Given the description of an element on the screen output the (x, y) to click on. 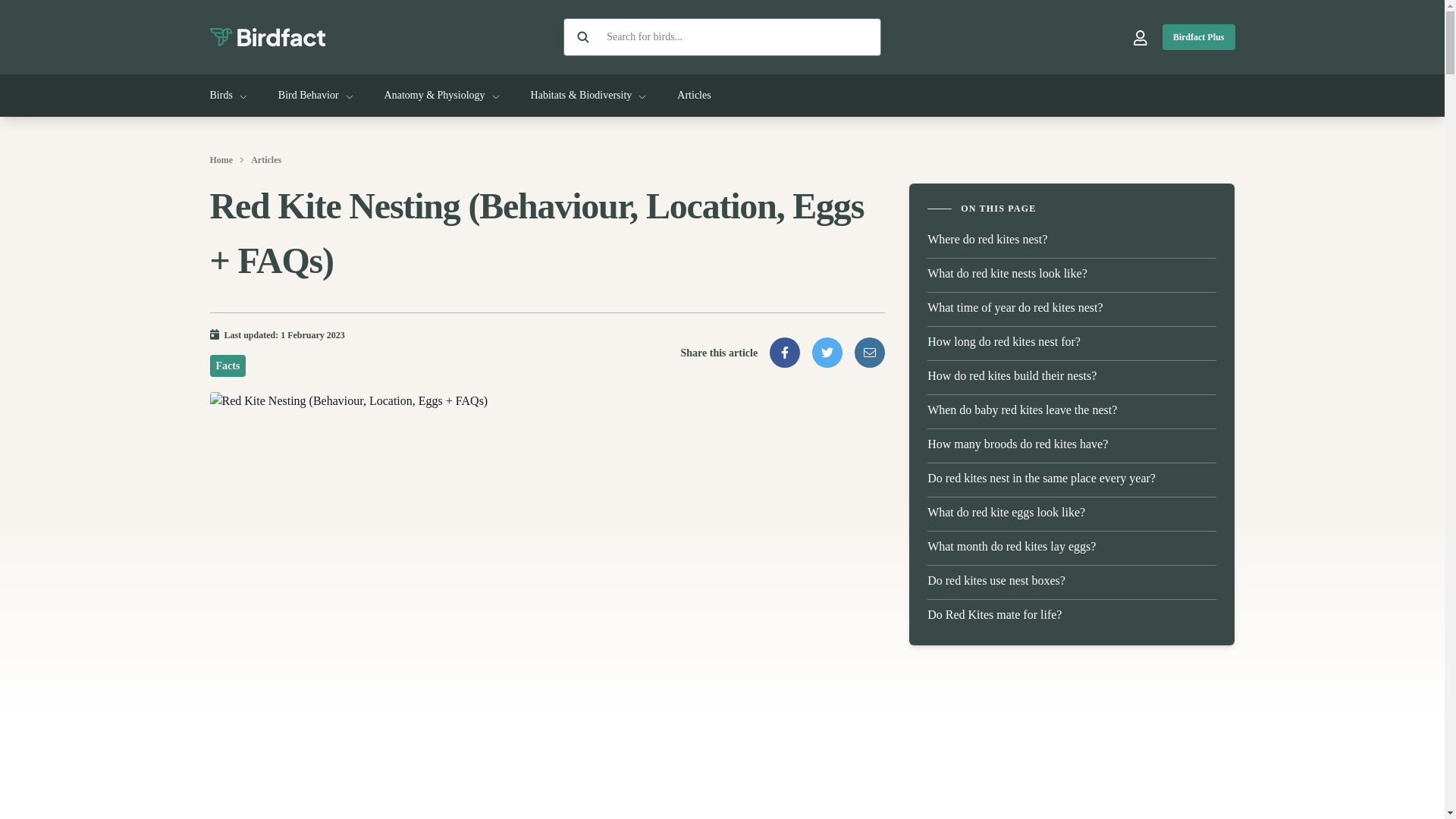
Articles (693, 95)
All Birds (228, 95)
Bird Behavior (315, 95)
Bird Behavior (315, 95)
Birdfact Plus (1197, 36)
Birds (228, 95)
